Given the description of an element on the screen output the (x, y) to click on. 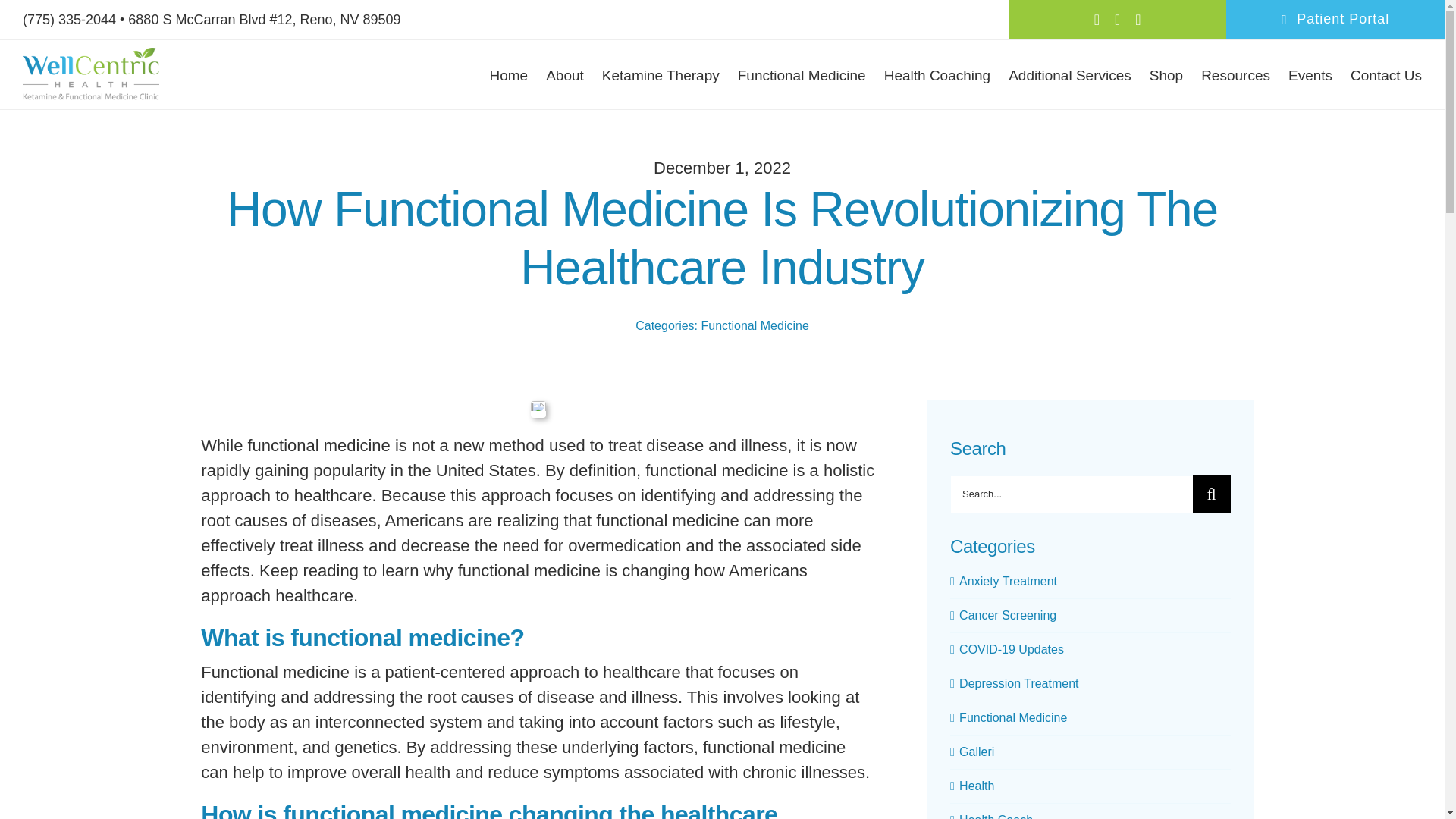
Additional Services (1070, 74)
Ketamine Therapy (660, 74)
Home (508, 74)
Health Coaching (936, 74)
About (564, 74)
Shop (1166, 74)
Functional Medicine (802, 74)
